Given the description of an element on the screen output the (x, y) to click on. 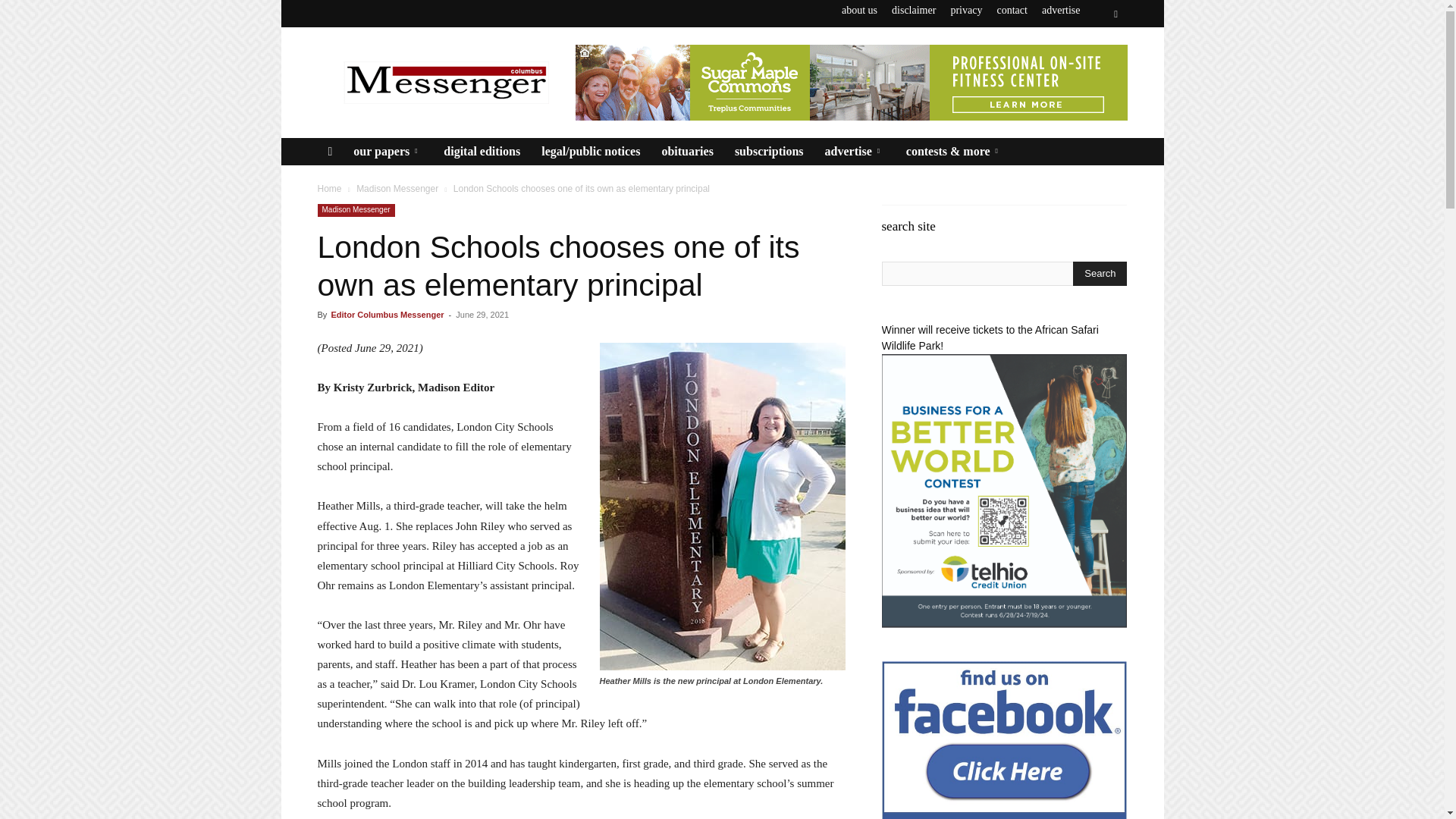
contact (1010, 9)
Columbus Messenger - Ohios Newspaper (445, 82)
advertise (1061, 9)
disclaimer (913, 9)
privacy (965, 9)
Search (1085, 70)
View all posts in Madison Messenger (397, 188)
our papers (387, 151)
Search (1099, 273)
about us (859, 9)
